Given the description of an element on the screen output the (x, y) to click on. 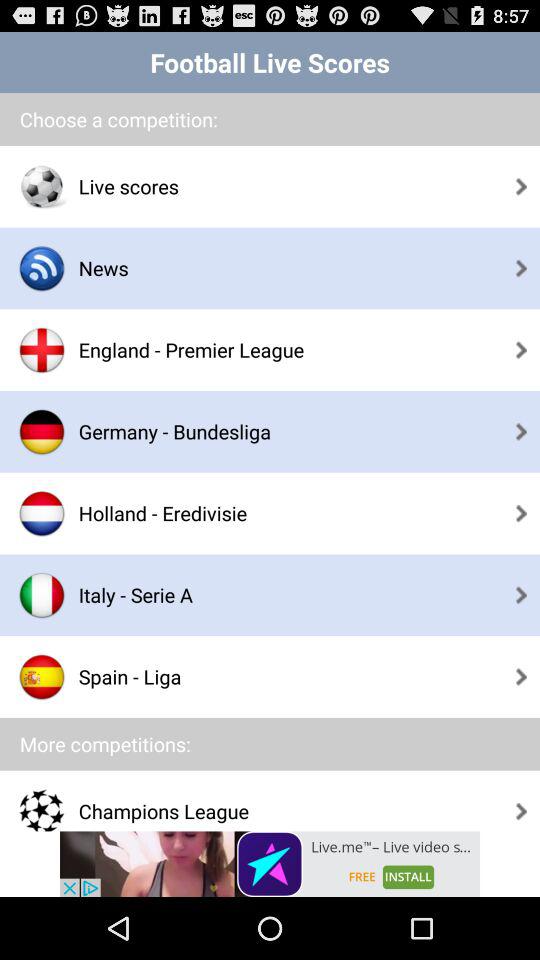
advertisent page (270, 864)
